Given the description of an element on the screen output the (x, y) to click on. 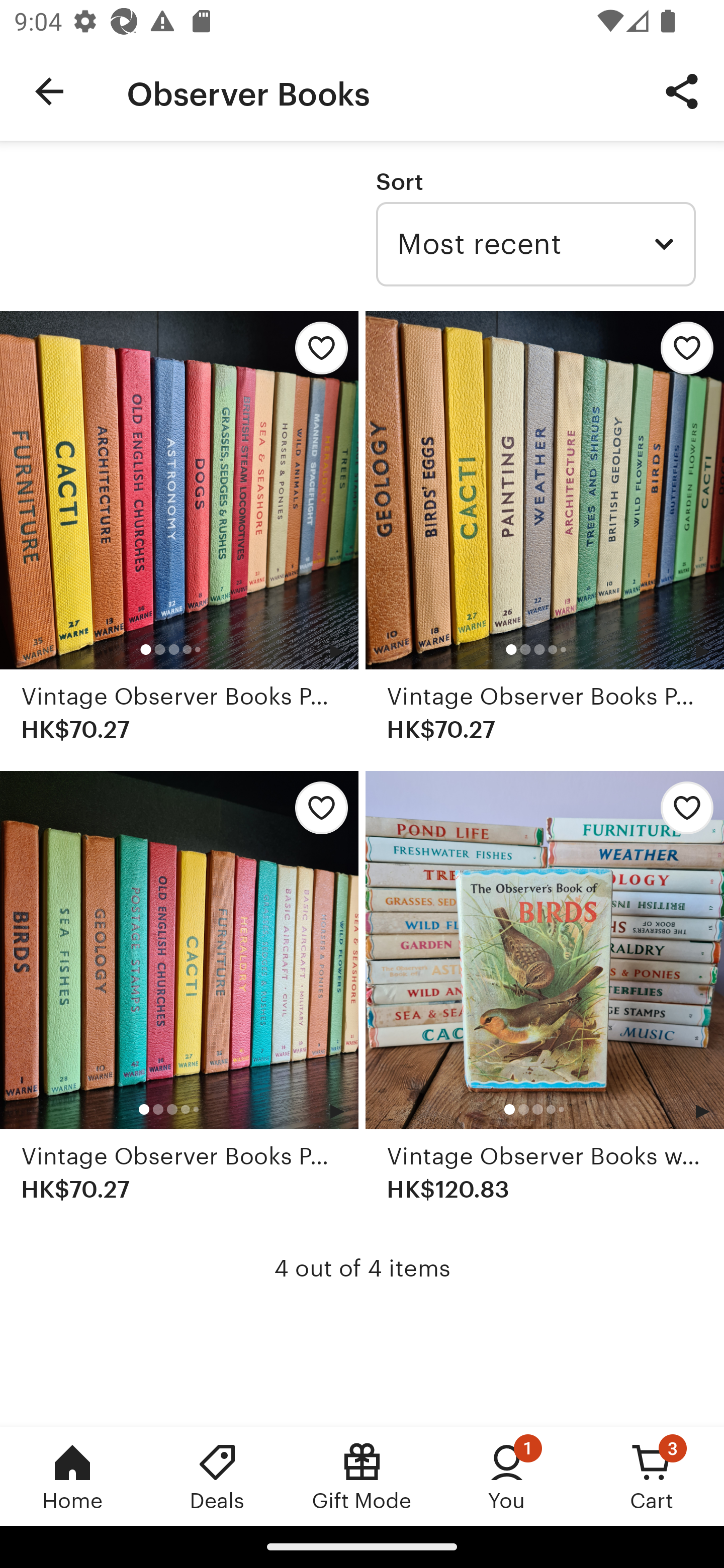
Navigate up (49, 91)
Share Button (681, 90)
Sort (399, 181)
Most recent (535, 244)
Deals (216, 1475)
Gift Mode (361, 1475)
You, 1 new notification You (506, 1475)
Cart, 3 new notifications Cart (651, 1475)
